Given the description of an element on the screen output the (x, y) to click on. 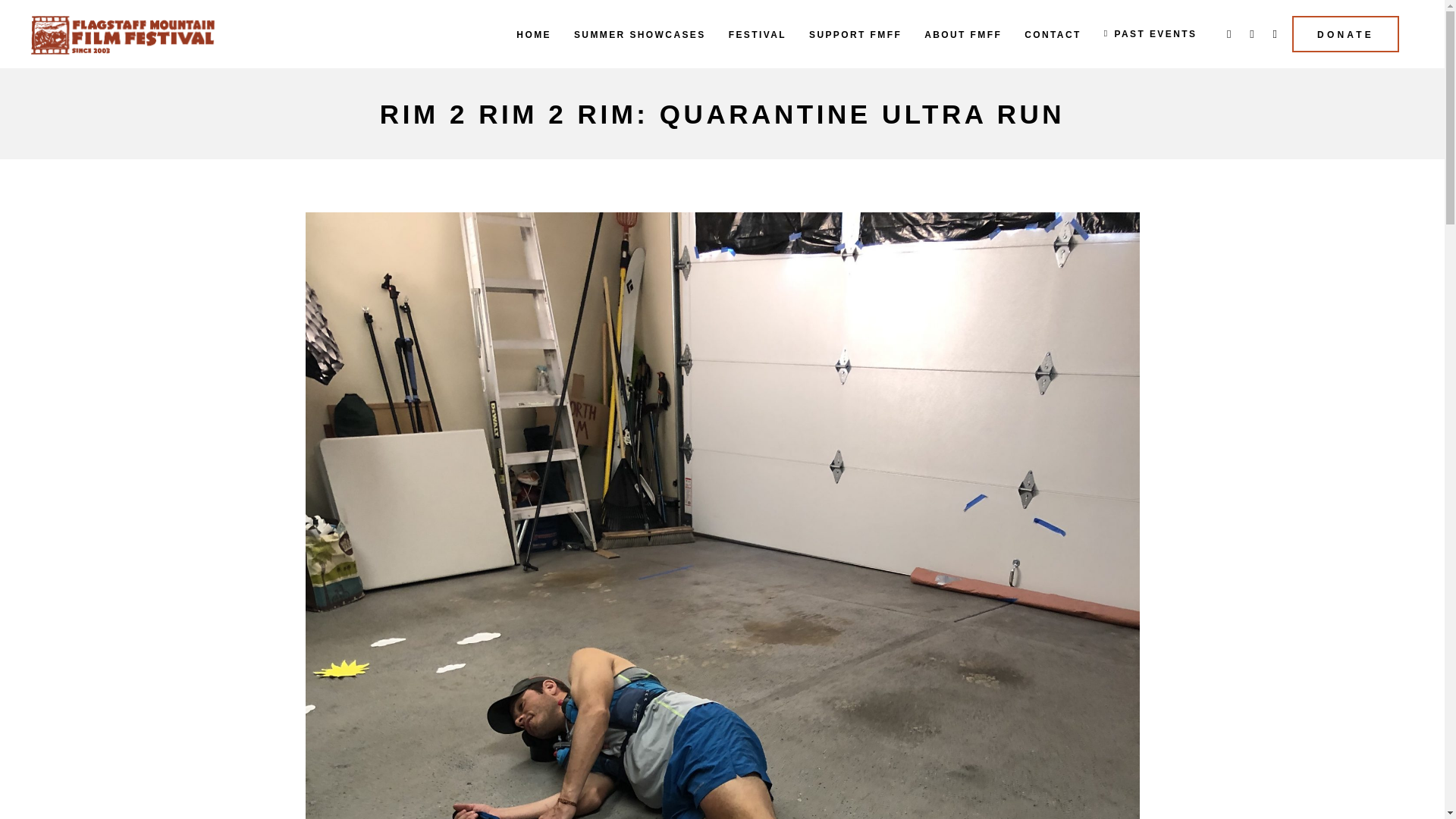
FESTIVAL (757, 33)
SUMMER SHOWCASES (639, 33)
ABOUT FMFF (962, 33)
SUPPORT FMFF (854, 33)
CONTACT (1053, 33)
